Given the description of an element on the screen output the (x, y) to click on. 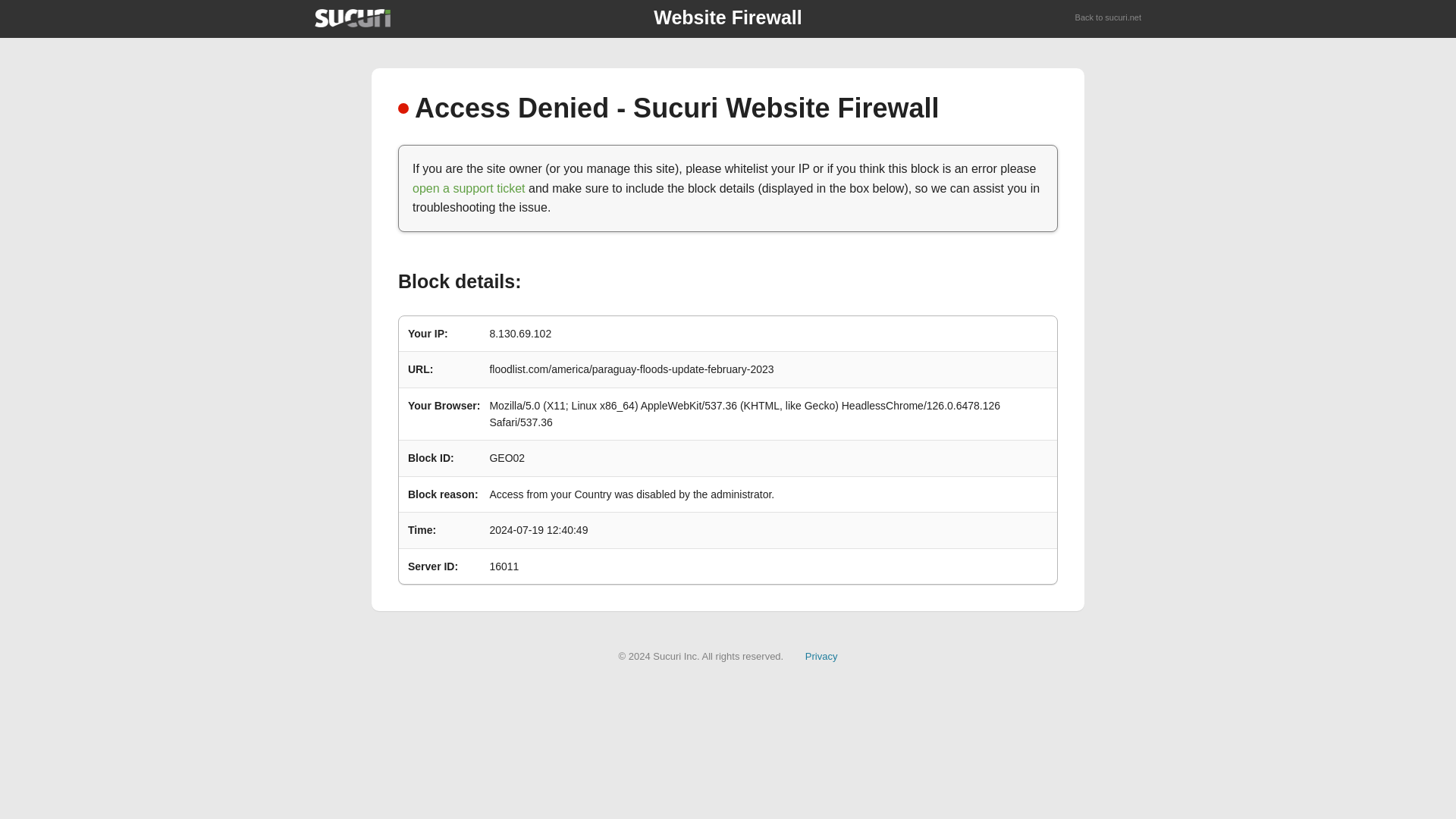
Privacy (821, 655)
open a support ticket (468, 187)
Back to sucuri.net (1108, 18)
